Given the description of an element on the screen output the (x, y) to click on. 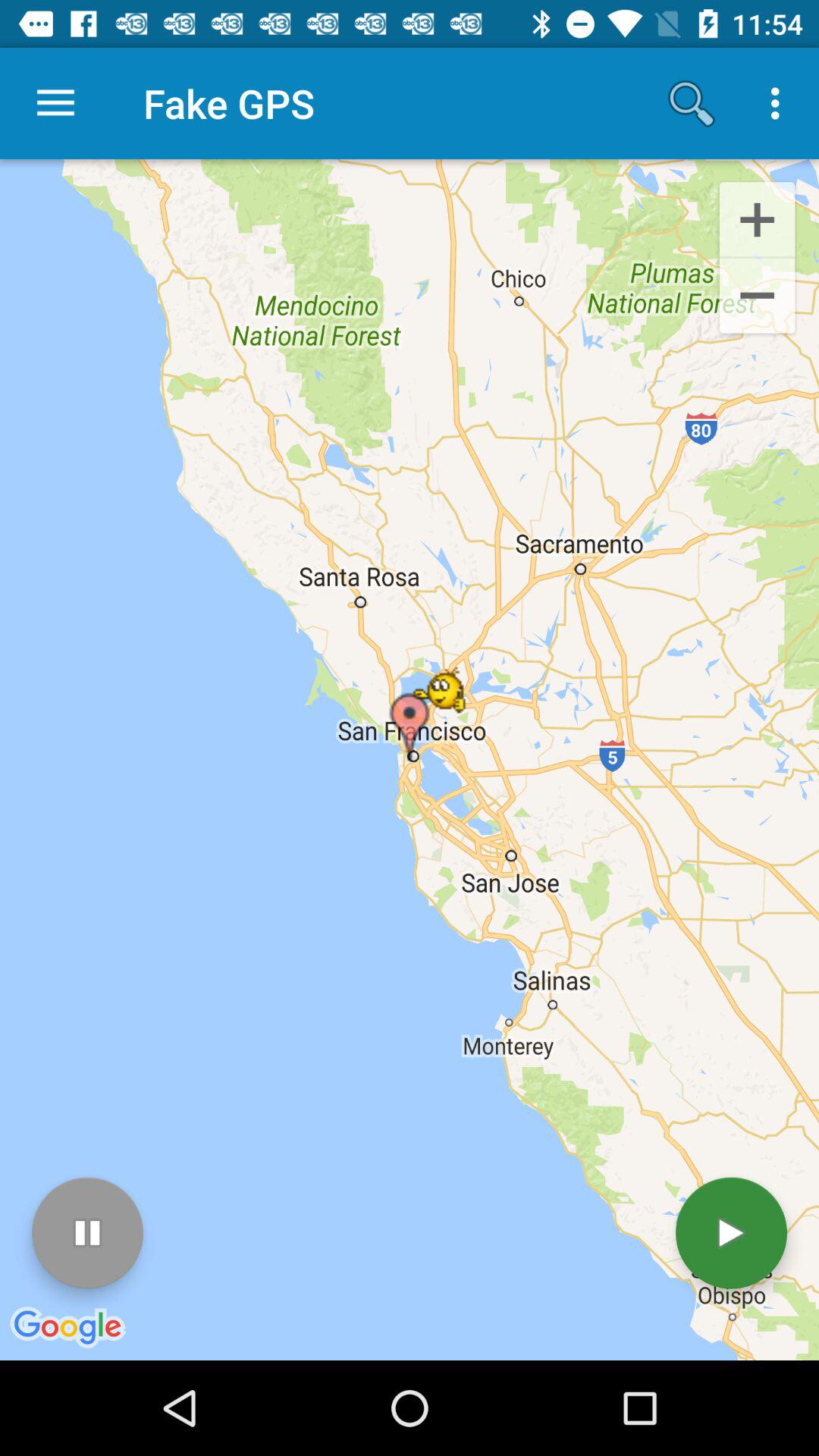
select item to the right of the fake gps (691, 103)
